Given the description of an element on the screen output the (x, y) to click on. 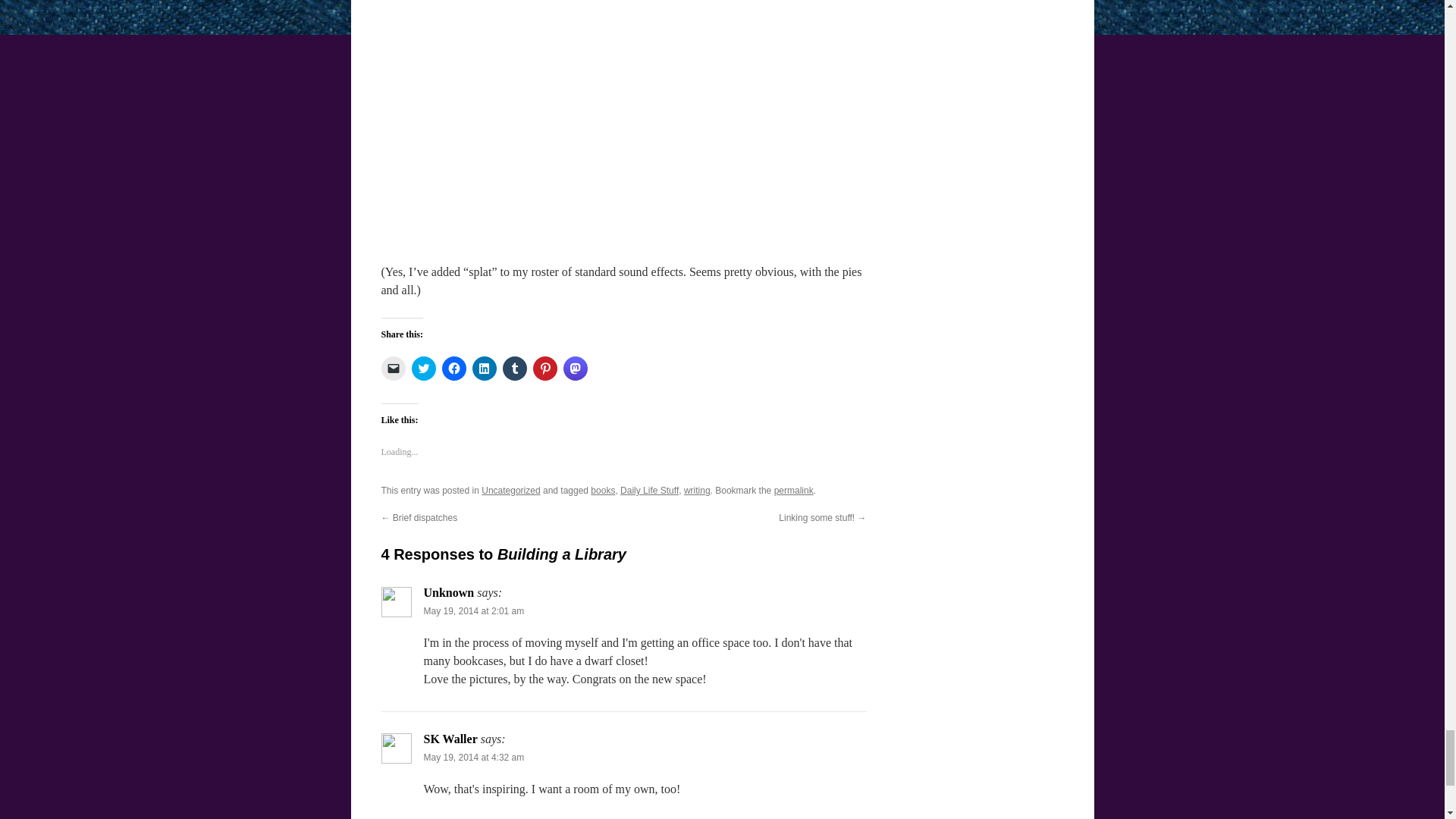
permalink (793, 490)
Click to share on Mastodon (574, 368)
Permalink to Building a Library (793, 490)
writing (697, 490)
books (602, 490)
Click to share on Tumblr (513, 368)
Daily Life Stuff (649, 490)
Click to share on LinkedIn (483, 368)
Click to share on Pinterest (544, 368)
May 19, 2014 at 4:32 am (473, 757)
